Given the description of an element on the screen output the (x, y) to click on. 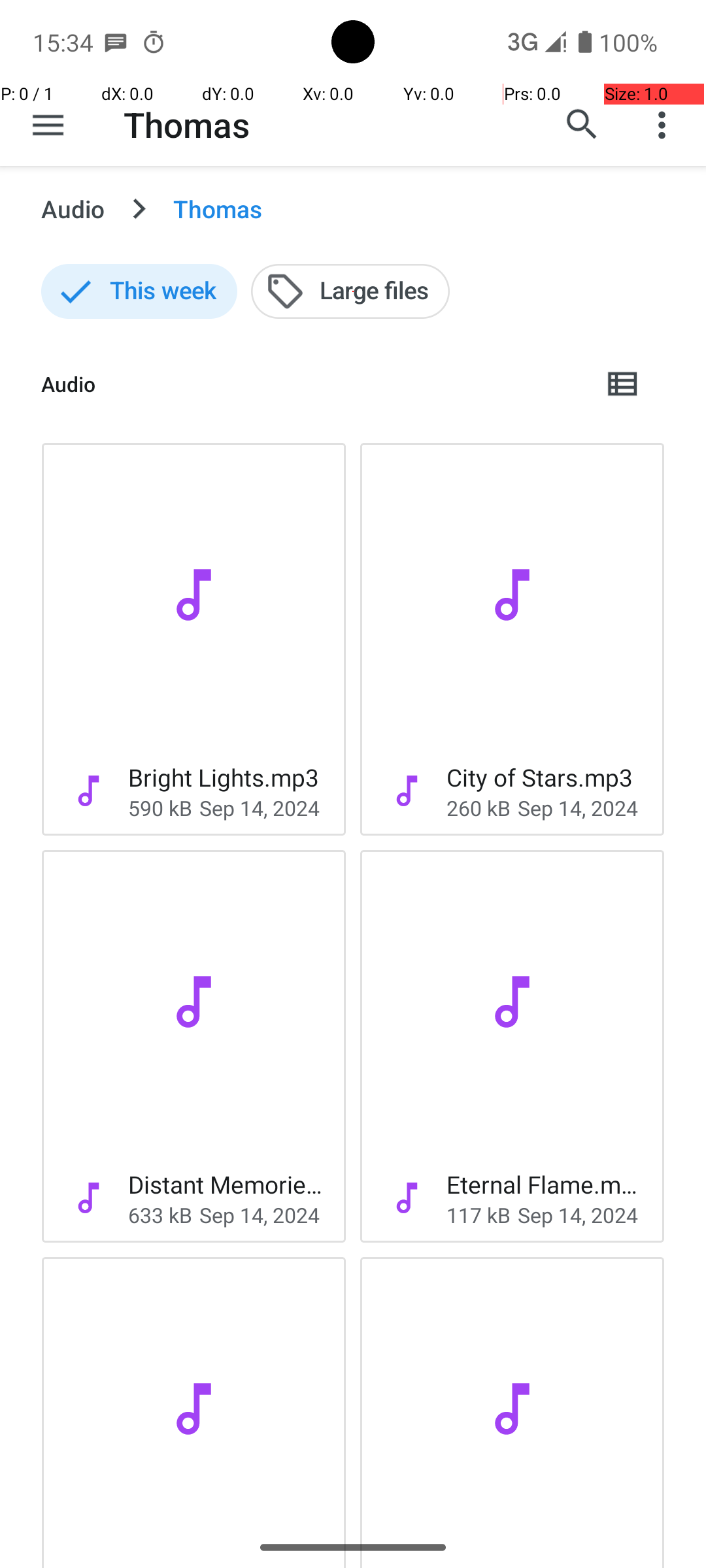
Thomas Element type: android.widget.TextView (186, 124)
Bright Lights.mp3 Element type: android.widget.TextView (223, 776)
590 kB Element type: android.widget.TextView (160, 807)
Sep 14, 2024 Element type: android.widget.TextView (259, 807)
City of Stars.mp3 Element type: android.widget.TextView (539, 776)
260 kB Element type: android.widget.TextView (478, 807)
Distant Memories.mp3 Element type: android.widget.TextView (226, 1183)
633 kB Element type: android.widget.TextView (160, 1214)
Eternal Flame.mp3 Element type: android.widget.TextView (544, 1183)
117 kB Element type: android.widget.TextView (478, 1214)
